Given the description of an element on the screen output the (x, y) to click on. 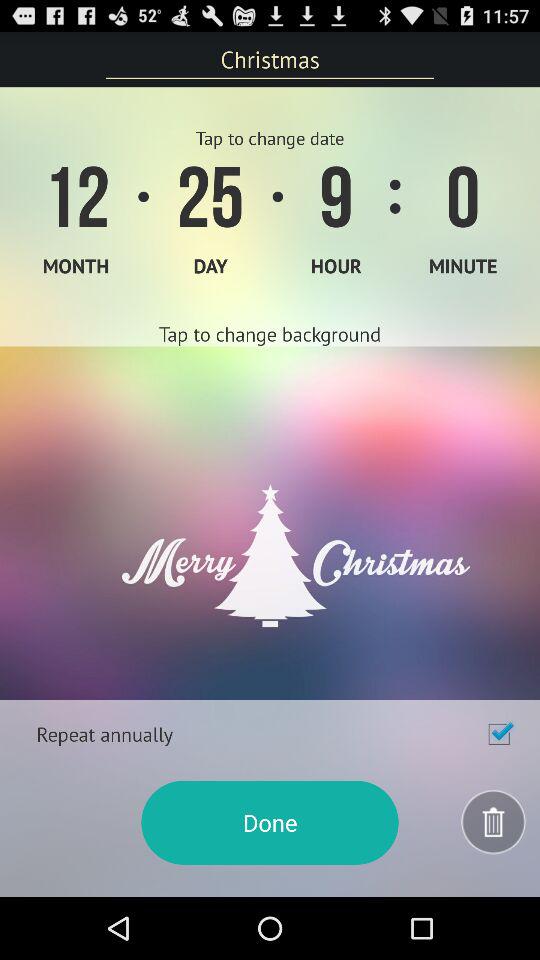
turn off the icon next to repeat annually item (499, 734)
